Given the description of an element on the screen output the (x, y) to click on. 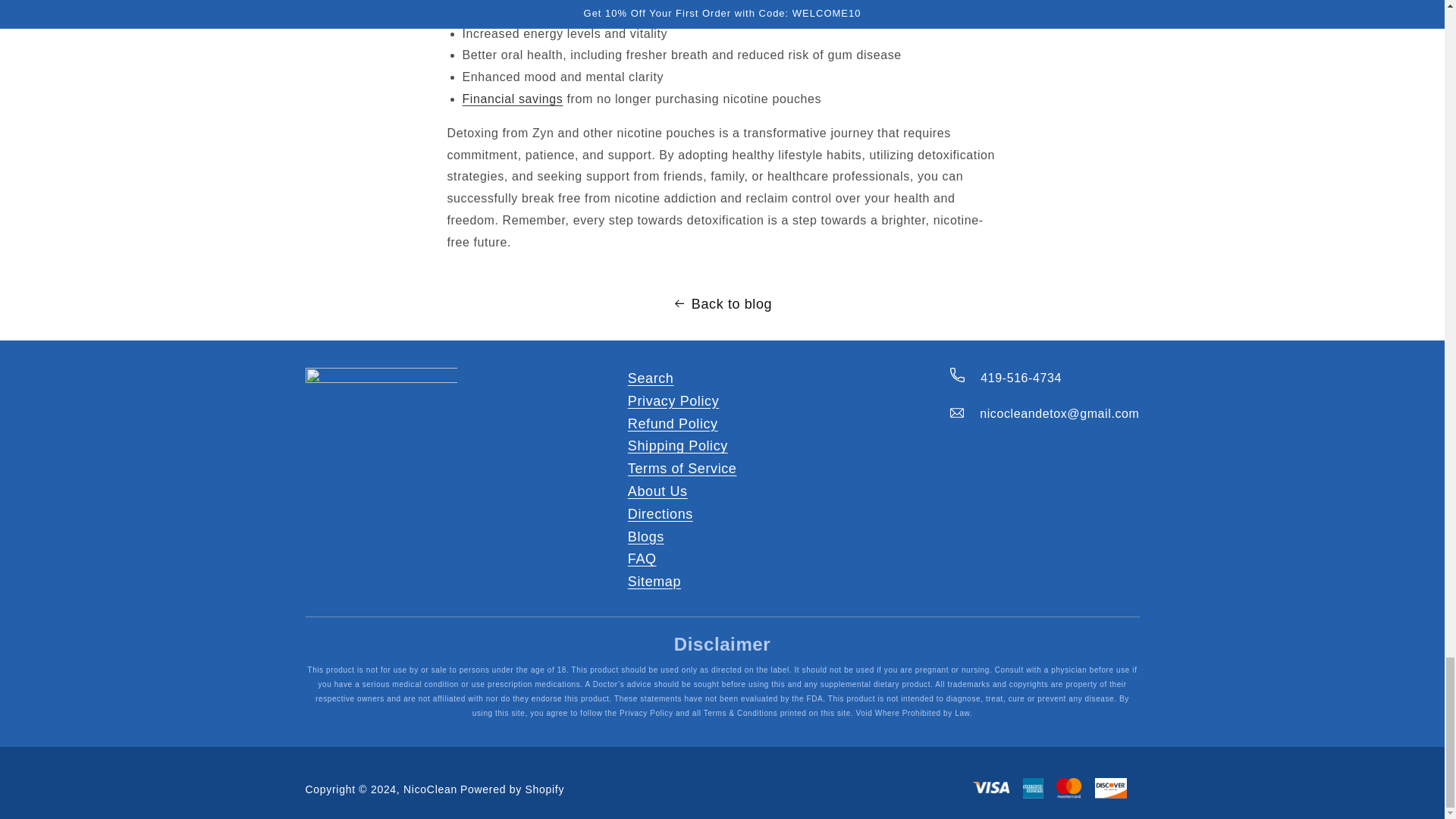
saving money not buying Nicotine (513, 98)
Search (650, 378)
Terms of Service (681, 468)
Financial savings (513, 98)
Shipping Policy (677, 445)
Refund Policy (672, 423)
Privacy Policy (673, 401)
